Given the description of an element on the screen output the (x, y) to click on. 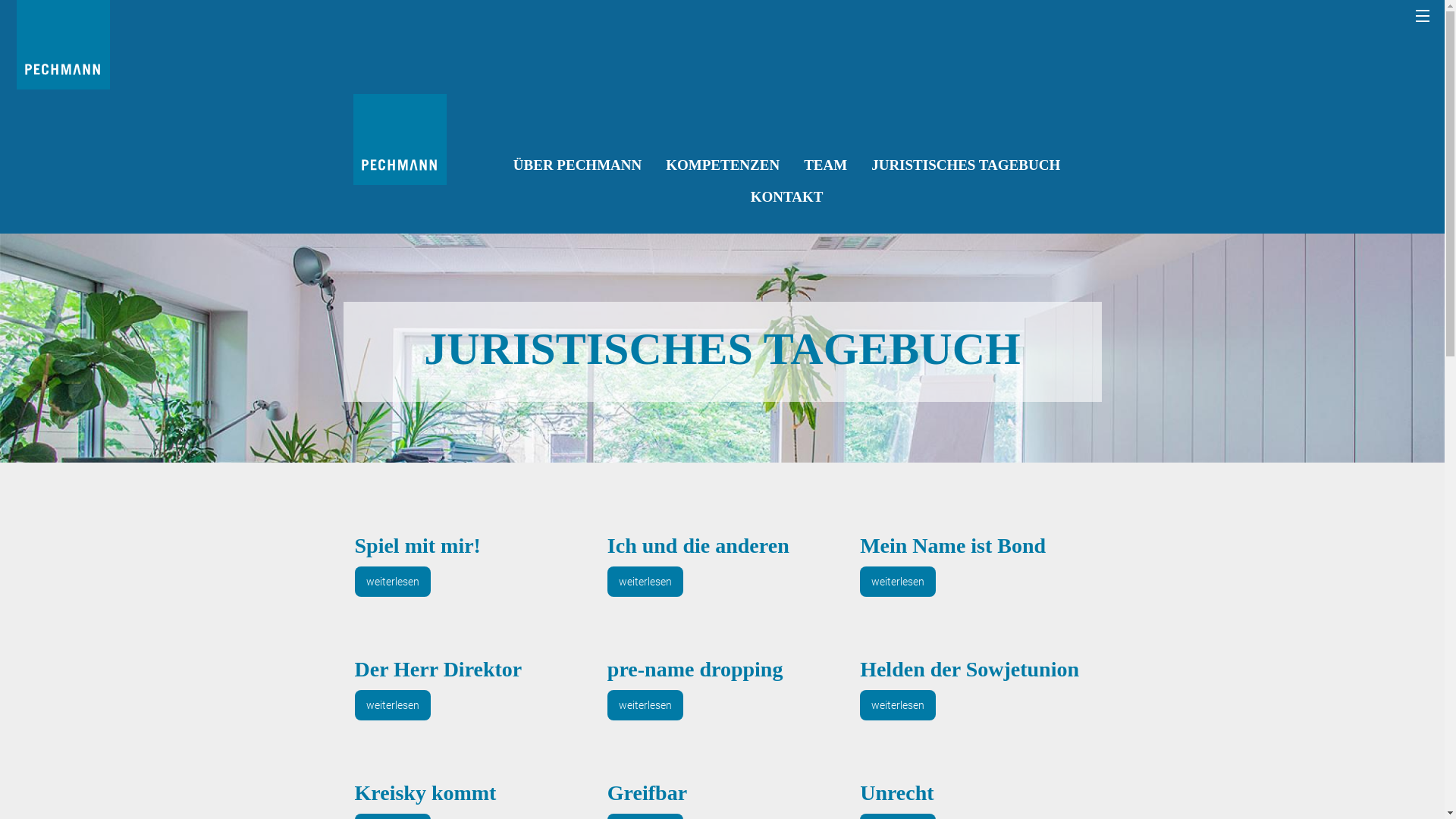
KONTAKT Element type: text (786, 195)
KOMPETENZEN Element type: text (722, 164)
weiterlesen Element type: text (392, 705)
weiterlesen Element type: text (392, 581)
TEAM Element type: text (825, 164)
JURISTISCHES TAGEBUCH Element type: text (965, 164)
weiterlesen Element type: text (645, 581)
weiterlesen Element type: text (897, 705)
weiterlesen Element type: text (645, 705)
Pechmann Rechtsanwalt Element type: text (399, 139)
weiterlesen Element type: text (897, 581)
